Given the description of an element on the screen output the (x, y) to click on. 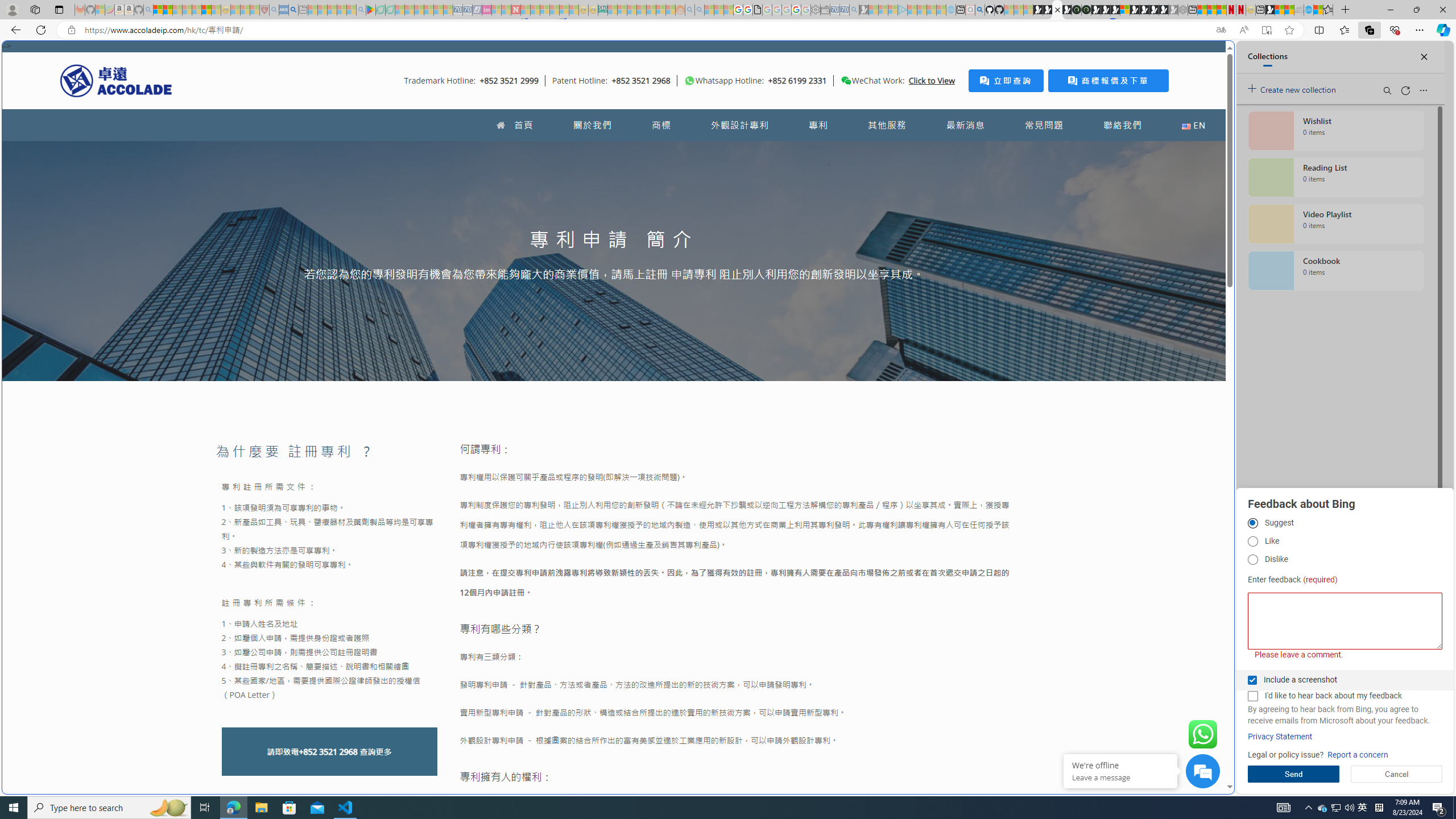
I'd like to hear back about my feedback (1252, 696)
Accolade IP HK Logo (116, 80)
github - Search (979, 9)
Play Cave FRVR in your browser | Games from Microsoft Start (922, 242)
Kinda Frugal - MSN - Sleeping (651, 9)
Cheap Hotels - Save70.com - Sleeping (467, 9)
Sign in to your account (1124, 9)
